Given the description of an element on the screen output the (x, y) to click on. 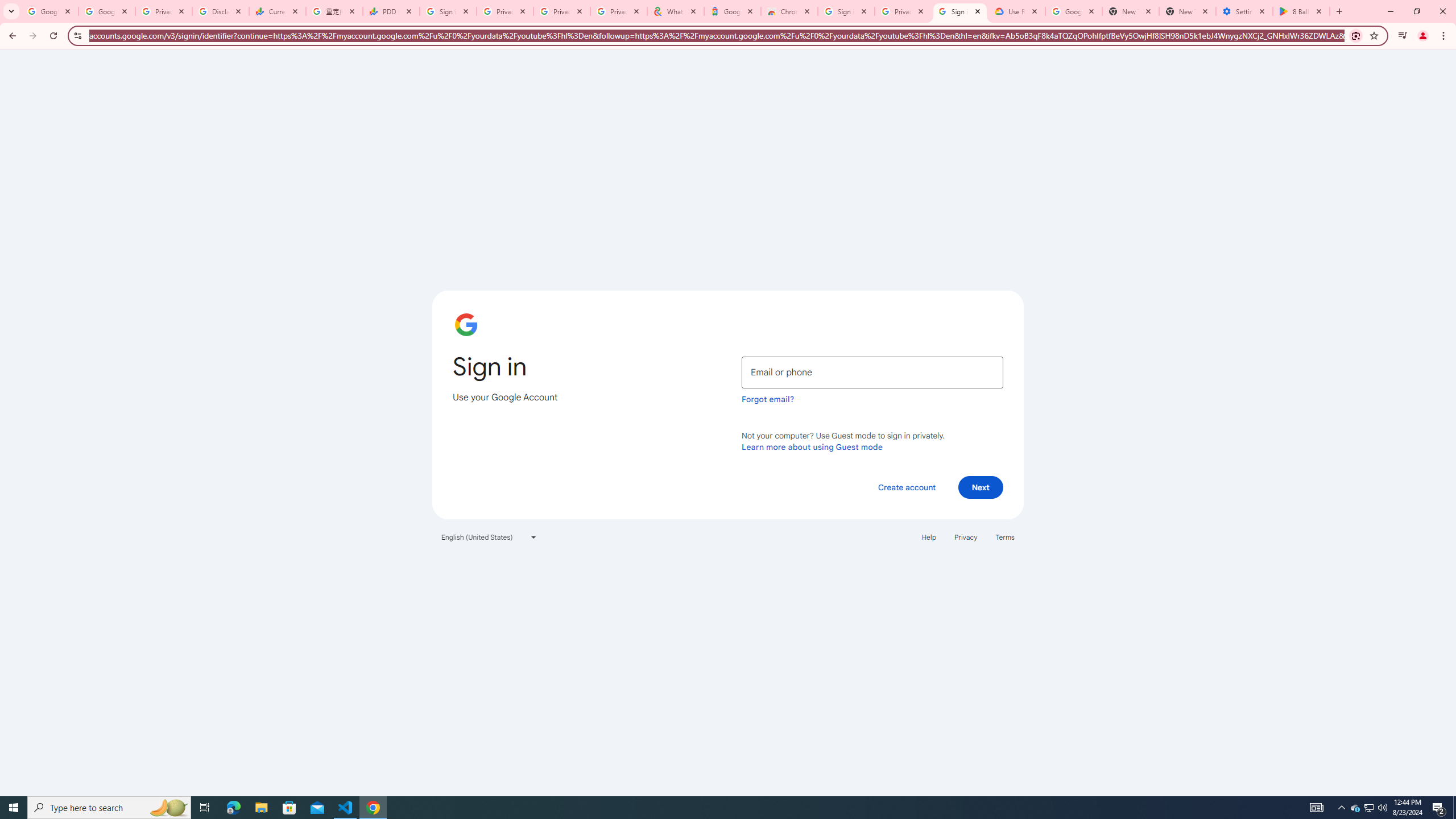
English (United States) (489, 536)
Learn more about using Guest mode (812, 446)
Privacy Checkup (618, 11)
Sign in - Google Accounts (959, 11)
Privacy Checkup (561, 11)
